Given the description of an element on the screen output the (x, y) to click on. 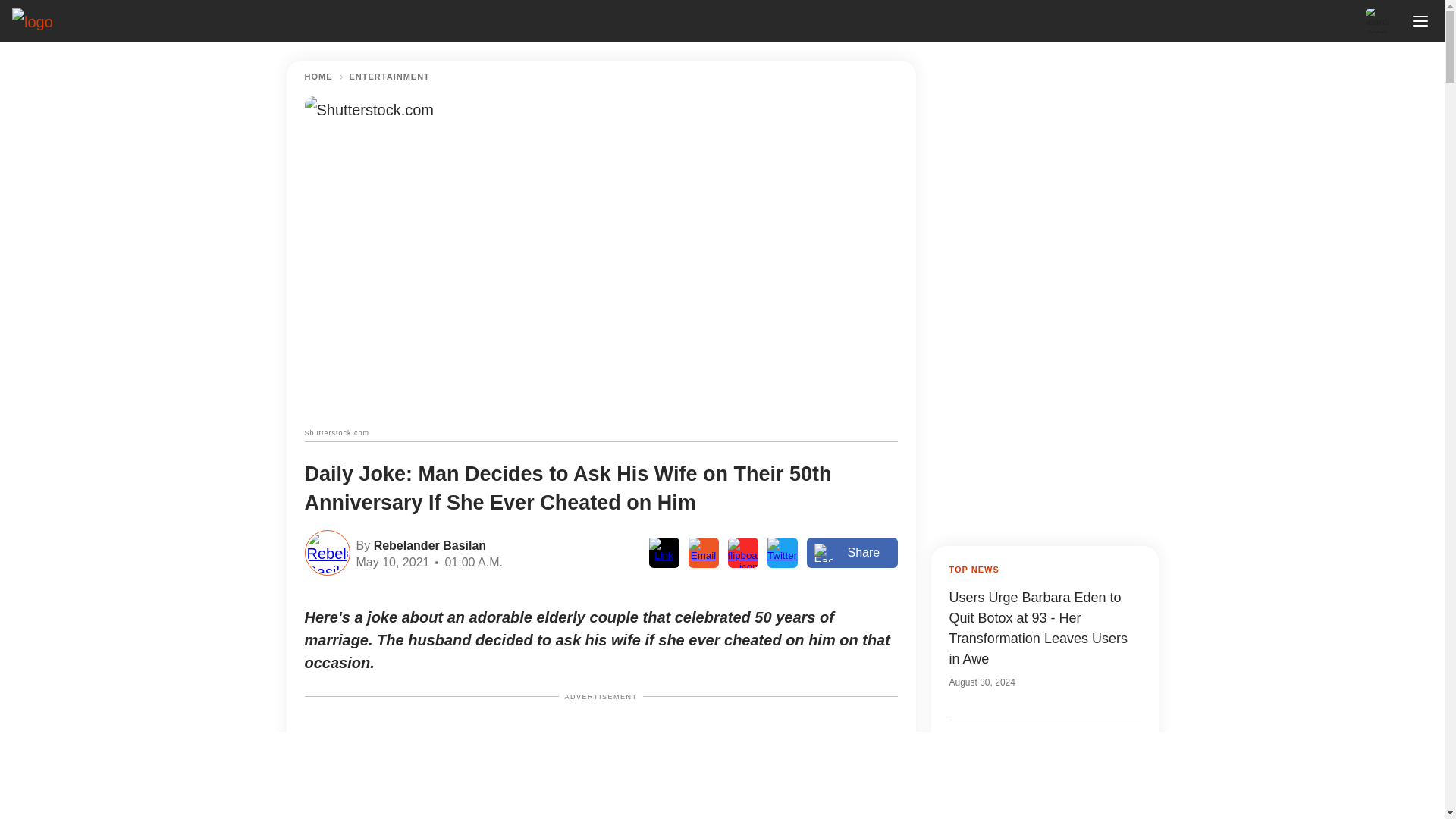
Rebelander Basilan (427, 544)
HOME (318, 76)
ENTERTAINMENT (389, 76)
